Given the description of an element on the screen output the (x, y) to click on. 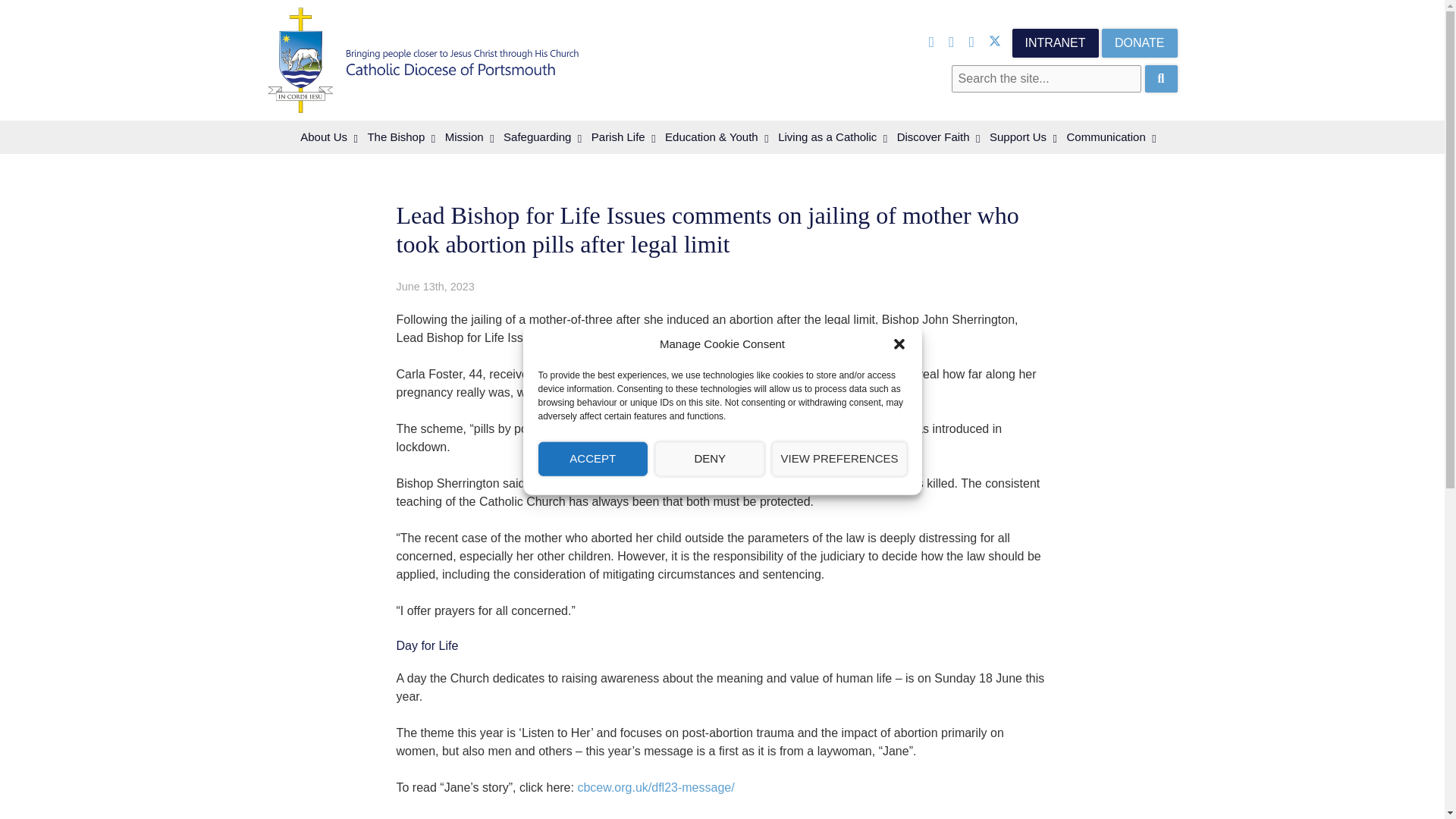
ACCEPT (592, 458)
Search for: (1046, 78)
VIEW PREFERENCES (838, 458)
DENY (709, 458)
